Given the description of an element on the screen output the (x, y) to click on. 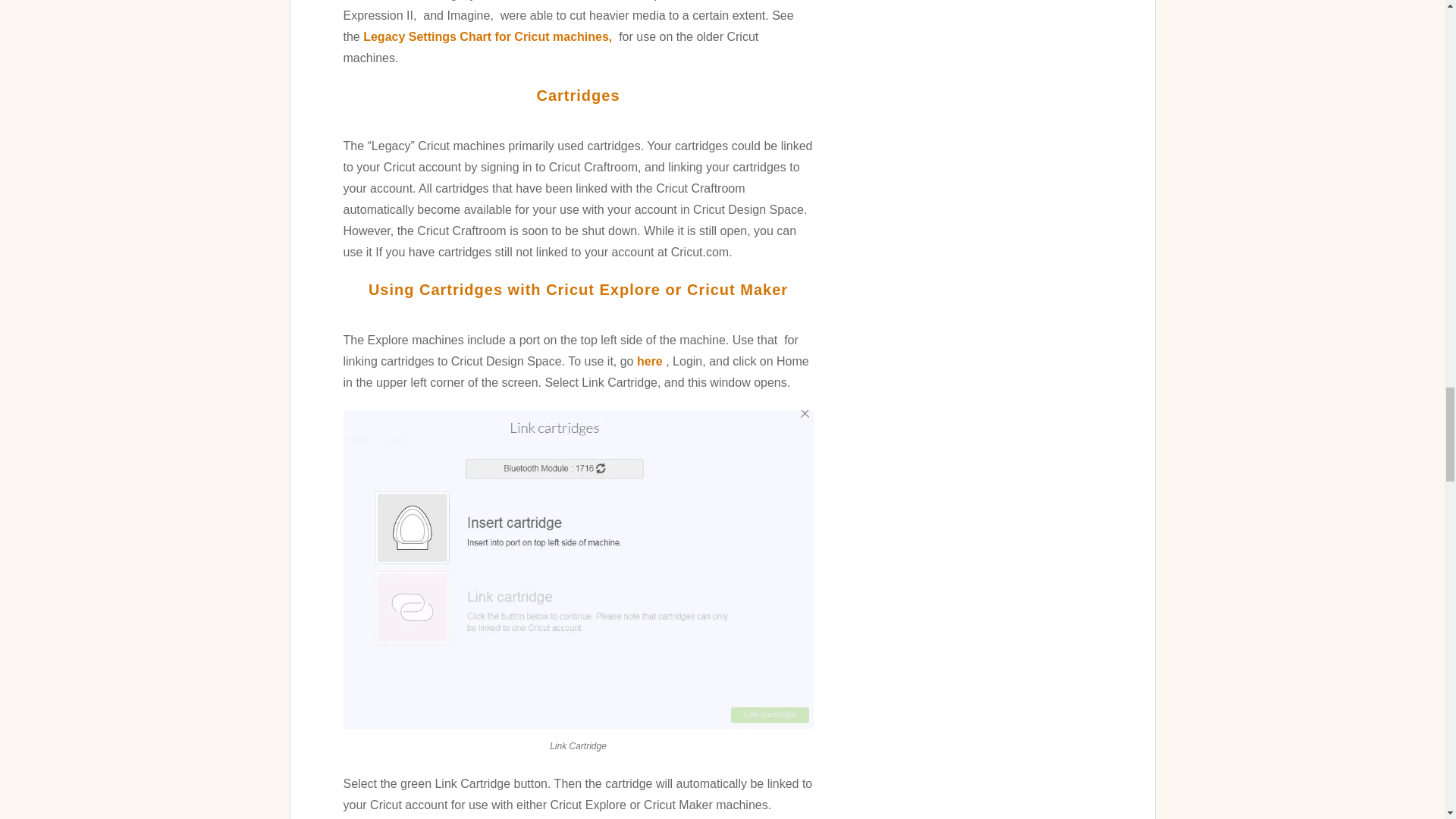
here (649, 360)
Legacy Settings Chart for Cricut machines,  (488, 36)
